Given the description of an element on the screen output the (x, y) to click on. 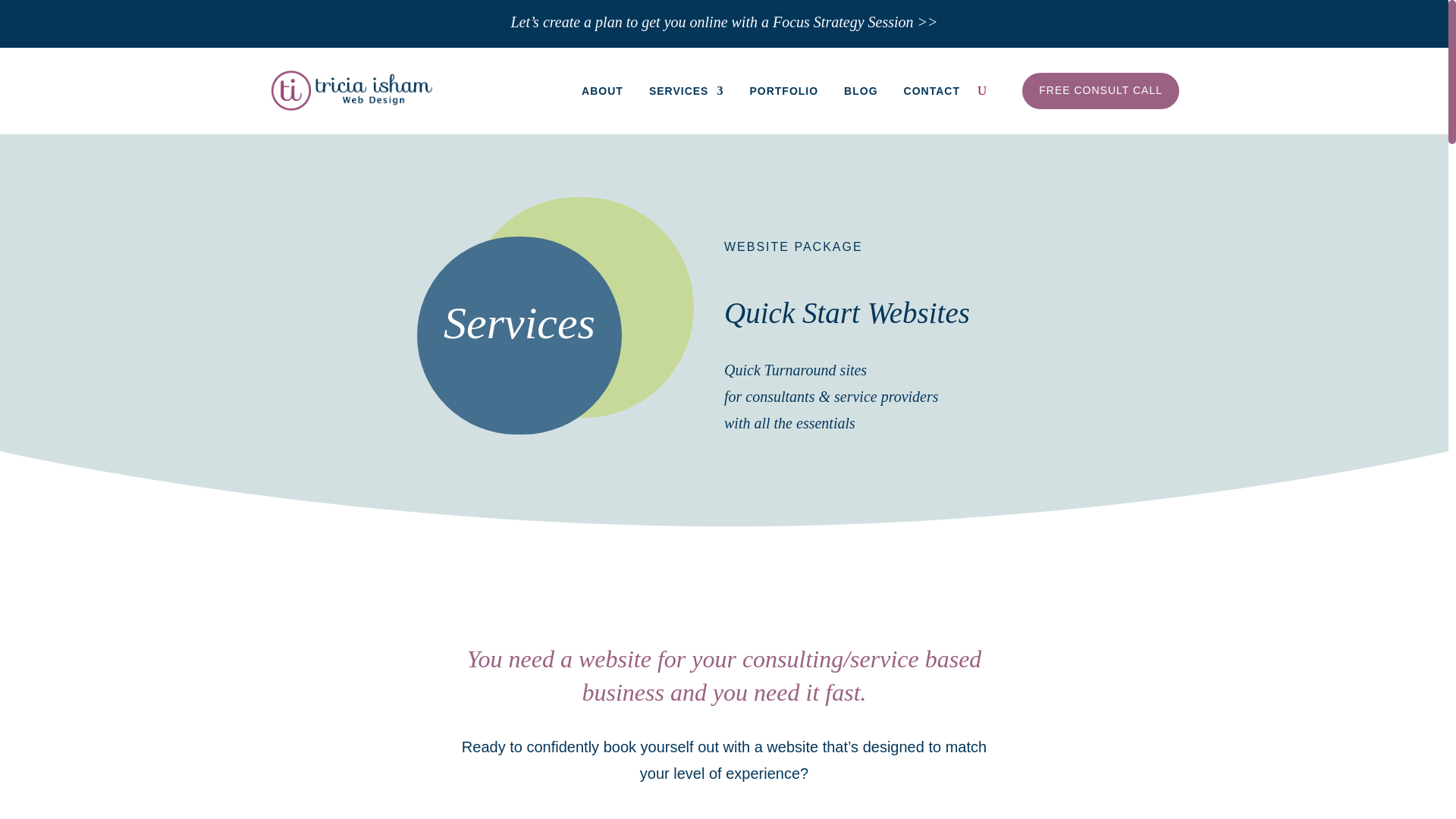
CONTACT (931, 90)
PORTFOLIO (783, 90)
FREE CONSULT CALL (1100, 90)
SERVICES (686, 90)
